Given the description of an element on the screen output the (x, y) to click on. 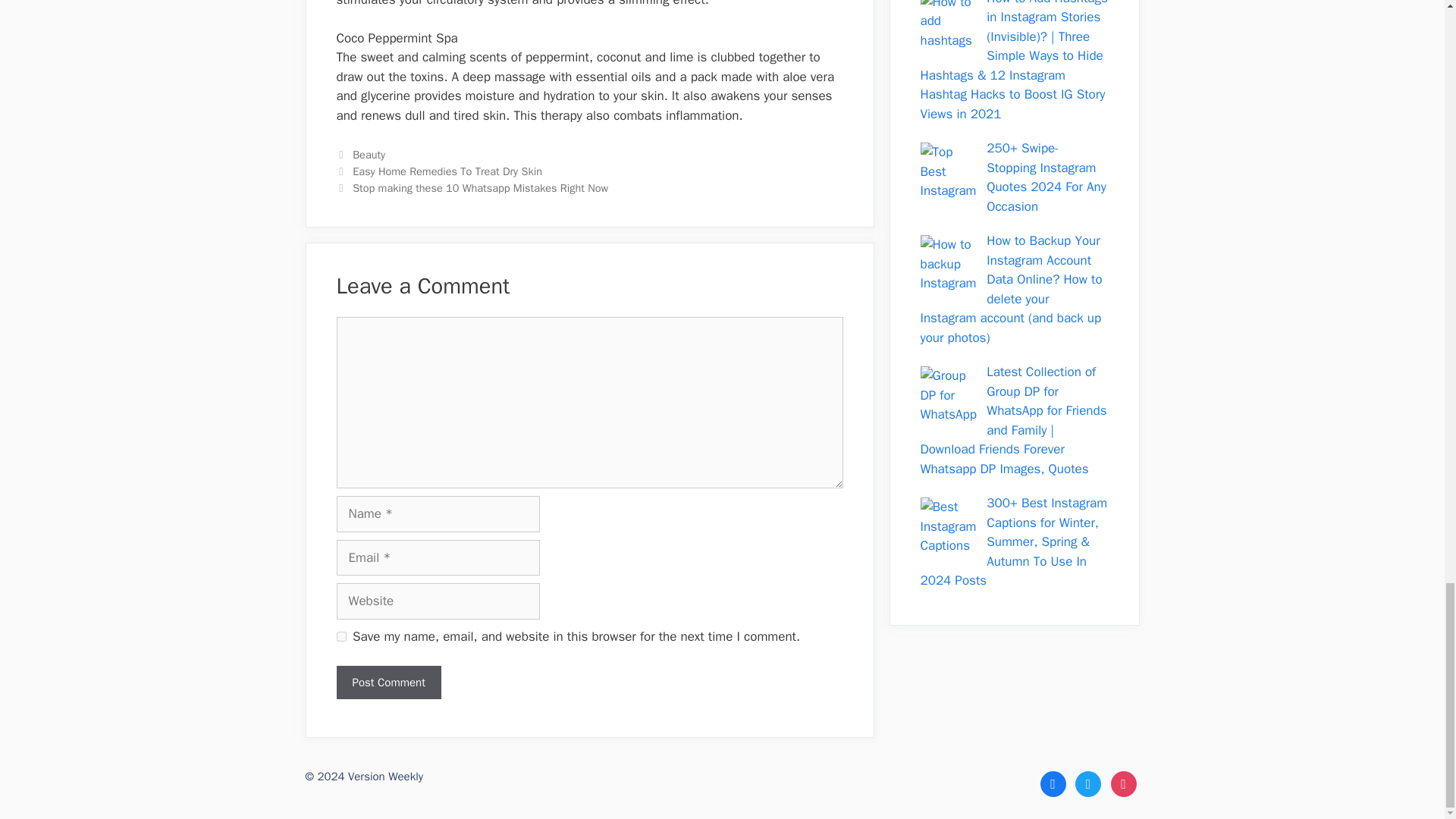
Twitter (1087, 783)
Stop making these 10 Whatsapp Mistakes Right Now (480, 187)
Beauty (368, 154)
Post Comment (388, 682)
Post Comment (388, 682)
Facebook (1053, 783)
Instagram (1122, 783)
yes (341, 636)
Easy Home Remedies To Treat Dry Skin (446, 171)
